Given the description of an element on the screen output the (x, y) to click on. 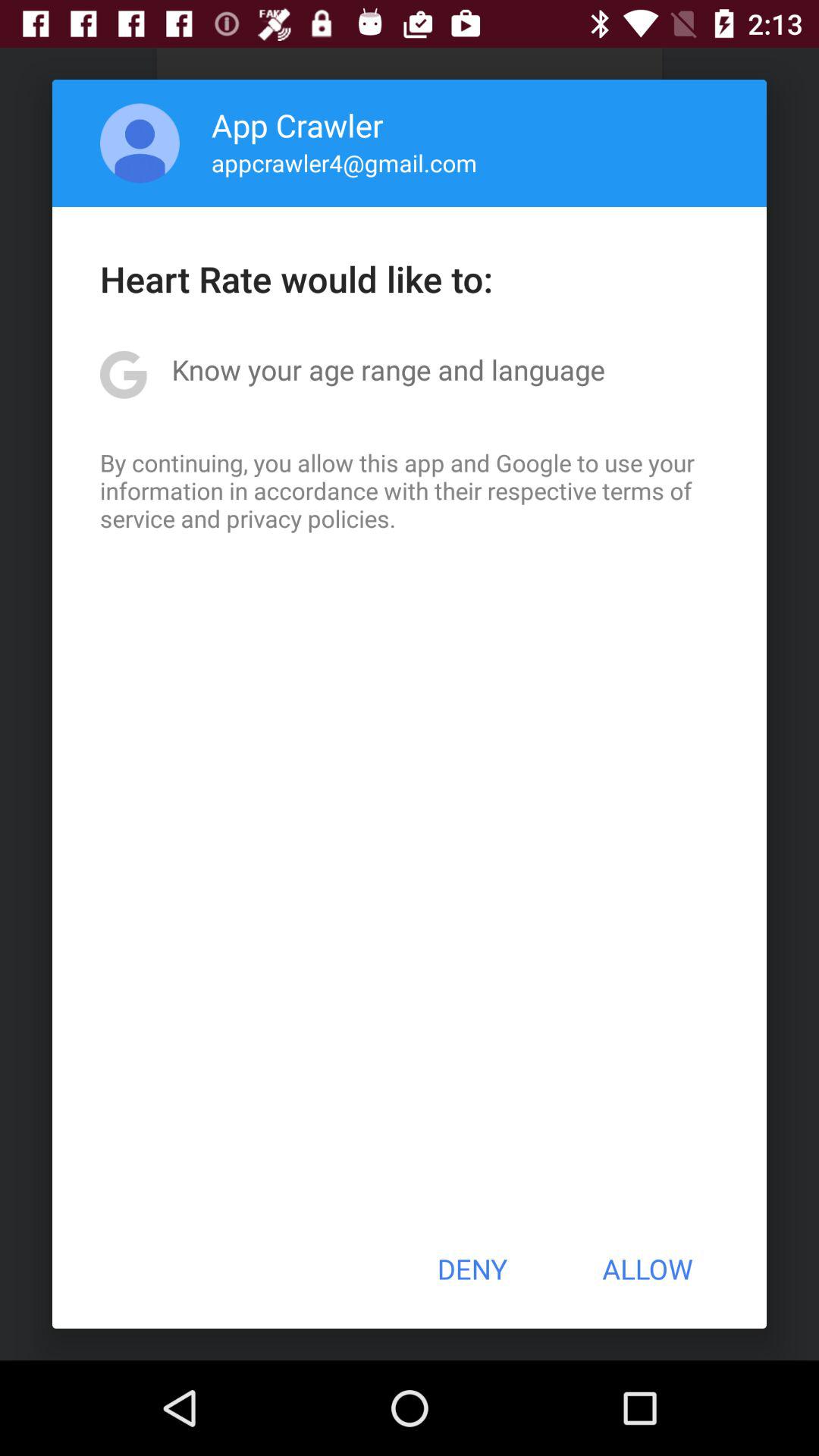
turn off the deny (471, 1268)
